Given the description of an element on the screen output the (x, y) to click on. 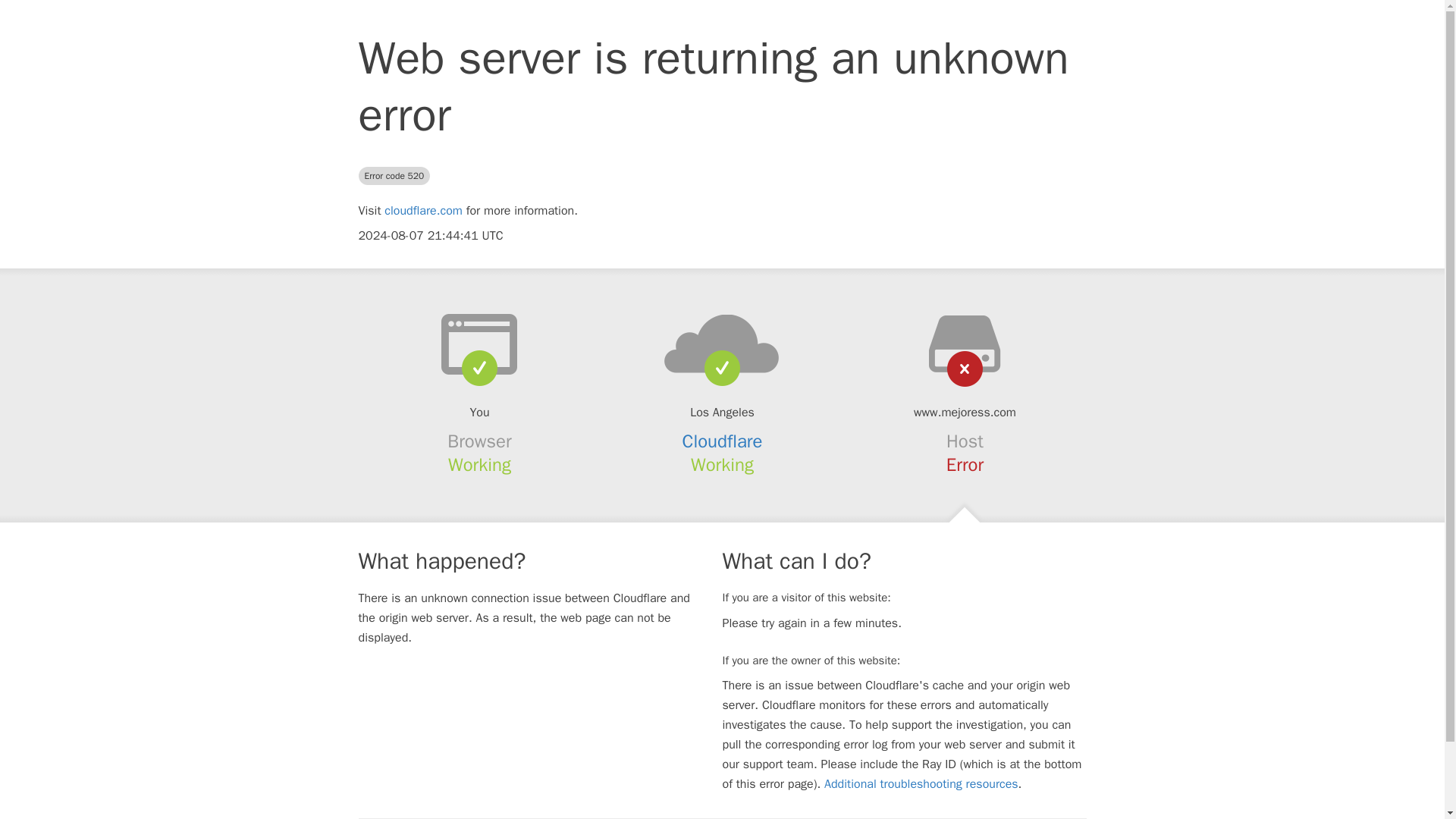
Additional troubleshooting resources (920, 783)
Cloudflare (722, 440)
cloudflare.com (423, 210)
